Given the description of an element on the screen output the (x, y) to click on. 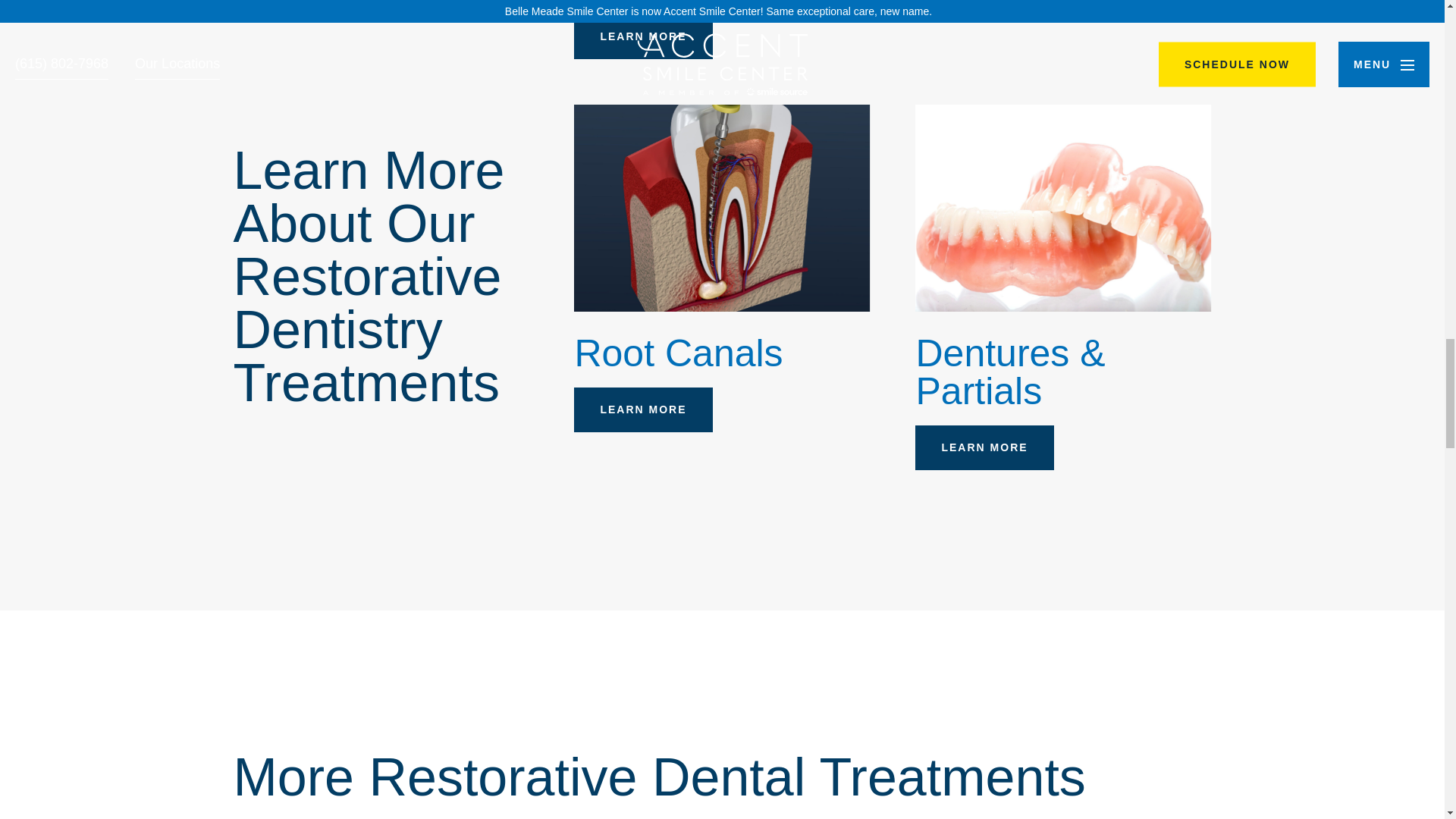
ACRYLIC DENTURE- FULL FRONT SET (1063, 208)
Root canal treatment process. 3D illustration (721, 208)
